Given the description of an element on the screen output the (x, y) to click on. 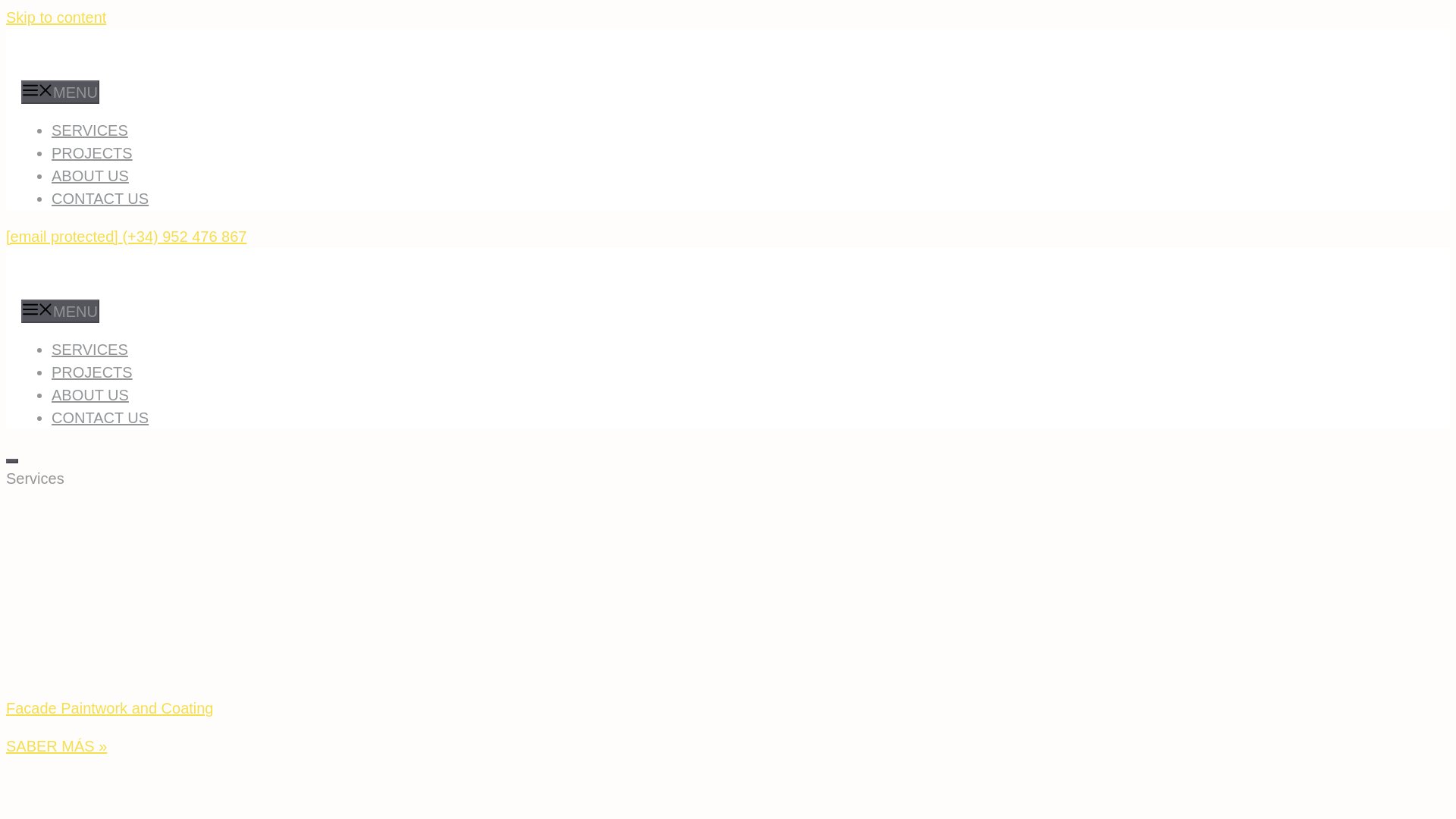
MENU (60, 92)
MENU (60, 310)
Skip to content (55, 17)
Facade Paintwork and Coating (109, 708)
ABOUT US (89, 394)
CONTACT US (99, 198)
ABOUT US (89, 175)
Skip to content (55, 17)
SERVICES (89, 130)
PROJECTS (91, 371)
